Given the description of an element on the screen output the (x, y) to click on. 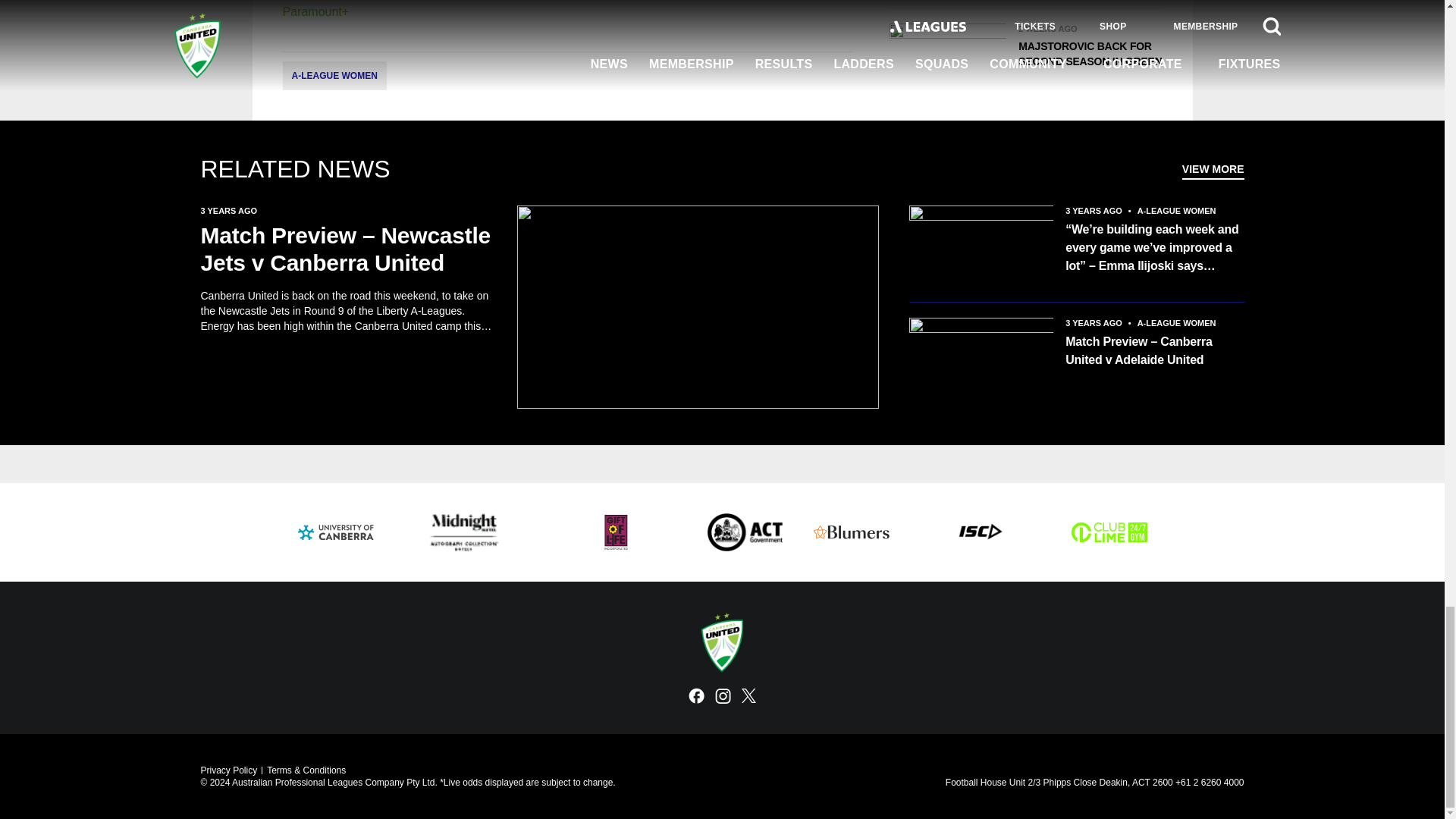
Blumers Lawyers (850, 531)
ISC Sport (979, 532)
University of Canberra (334, 532)
Gift of Life (615, 532)
CBR (744, 532)
Midnight Hotel (463, 532)
Club Lime (1108, 532)
